Given the description of an element on the screen output the (x, y) to click on. 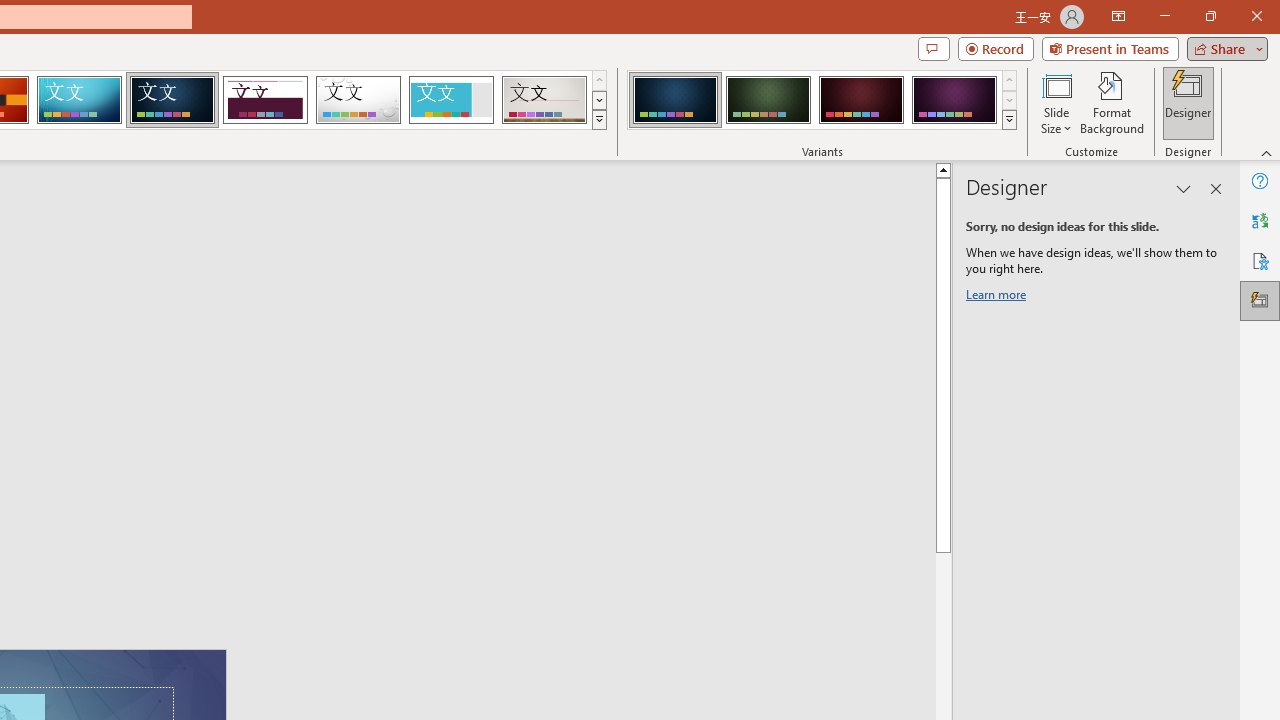
Slide Size (1056, 102)
Droplet (358, 100)
Damask Variant 2 (768, 100)
Damask Variant 1 (674, 100)
Learn more (998, 297)
Circuit (79, 100)
Damask Variant 3 (861, 100)
Themes (598, 120)
